Given the description of an element on the screen output the (x, y) to click on. 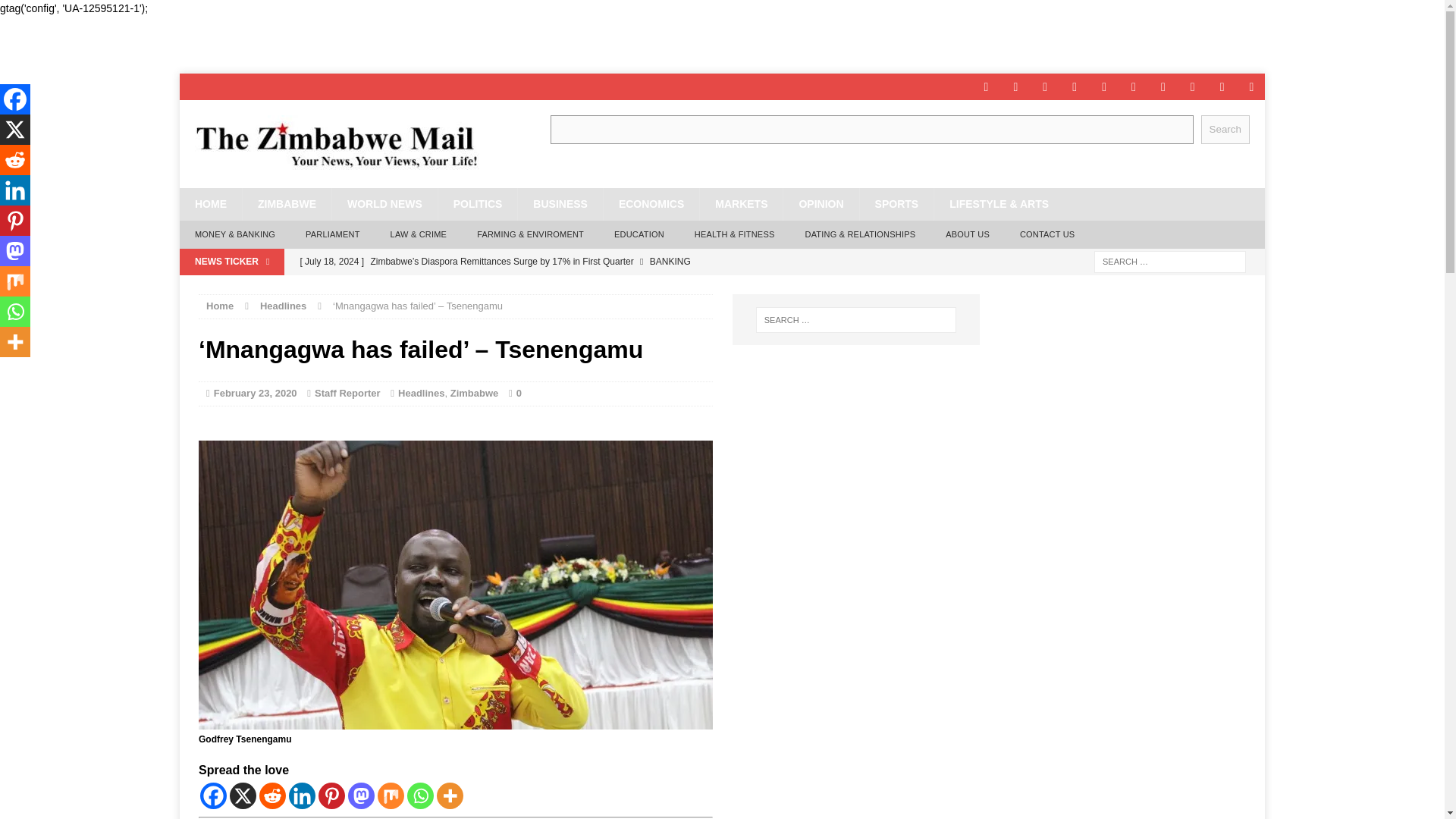
Search (37, 11)
ABOUT US (967, 234)
Home (219, 306)
The Zimbabwe Mail (350, 143)
OPINION (821, 204)
POLITICS (478, 204)
X (243, 795)
Pinterest (331, 795)
Whatsapp (420, 795)
Search (1225, 129)
SPORTS (896, 204)
ZIMBABWE (286, 204)
Headlines (282, 306)
MARKETS (740, 204)
WORLD NEWS (384, 204)
